Given the description of an element on the screen output the (x, y) to click on. 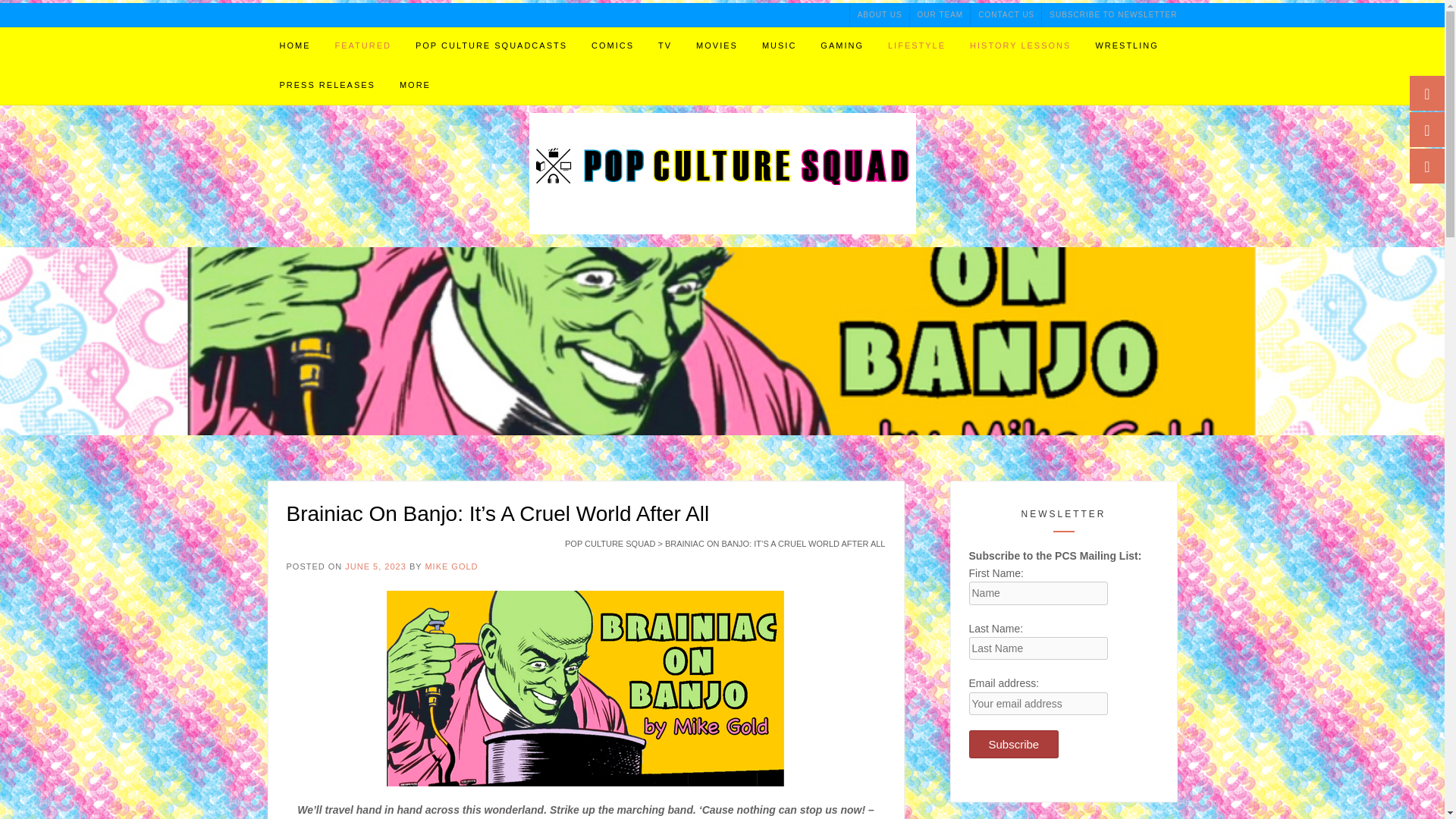
ABOUT US (880, 14)
COMICS (612, 46)
CONTACT US (1006, 14)
SUBSCRIBE TO NEWSLETTER (1109, 14)
FEATURED (363, 46)
Subscribe (1014, 744)
TV (665, 46)
POP CULTURE SQUADCASTS (491, 46)
OUR TEAM (940, 14)
Go to Pop Culture Squad. (609, 542)
HOME (293, 46)
